Given the description of an element on the screen output the (x, y) to click on. 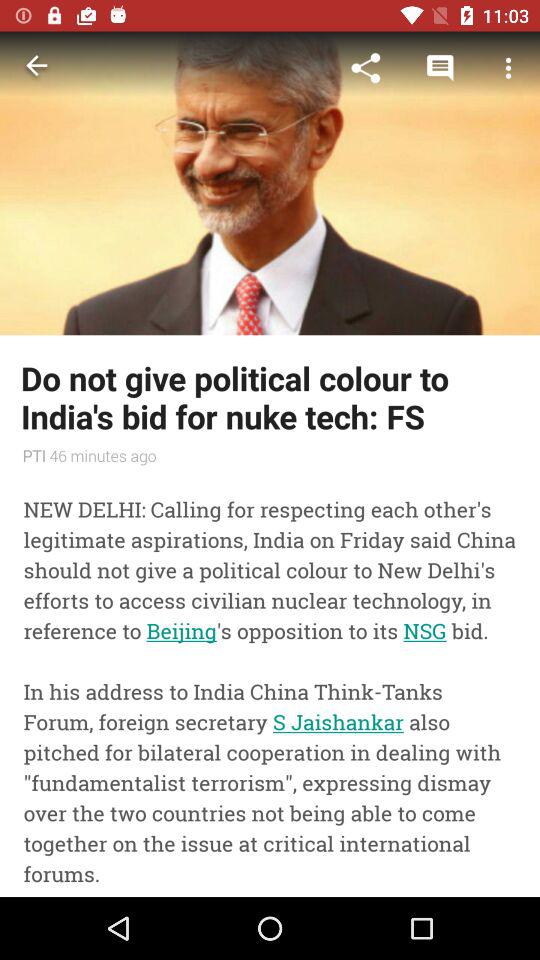
select the icon above do not give item (439, 67)
